Given the description of an element on the screen output the (x, y) to click on. 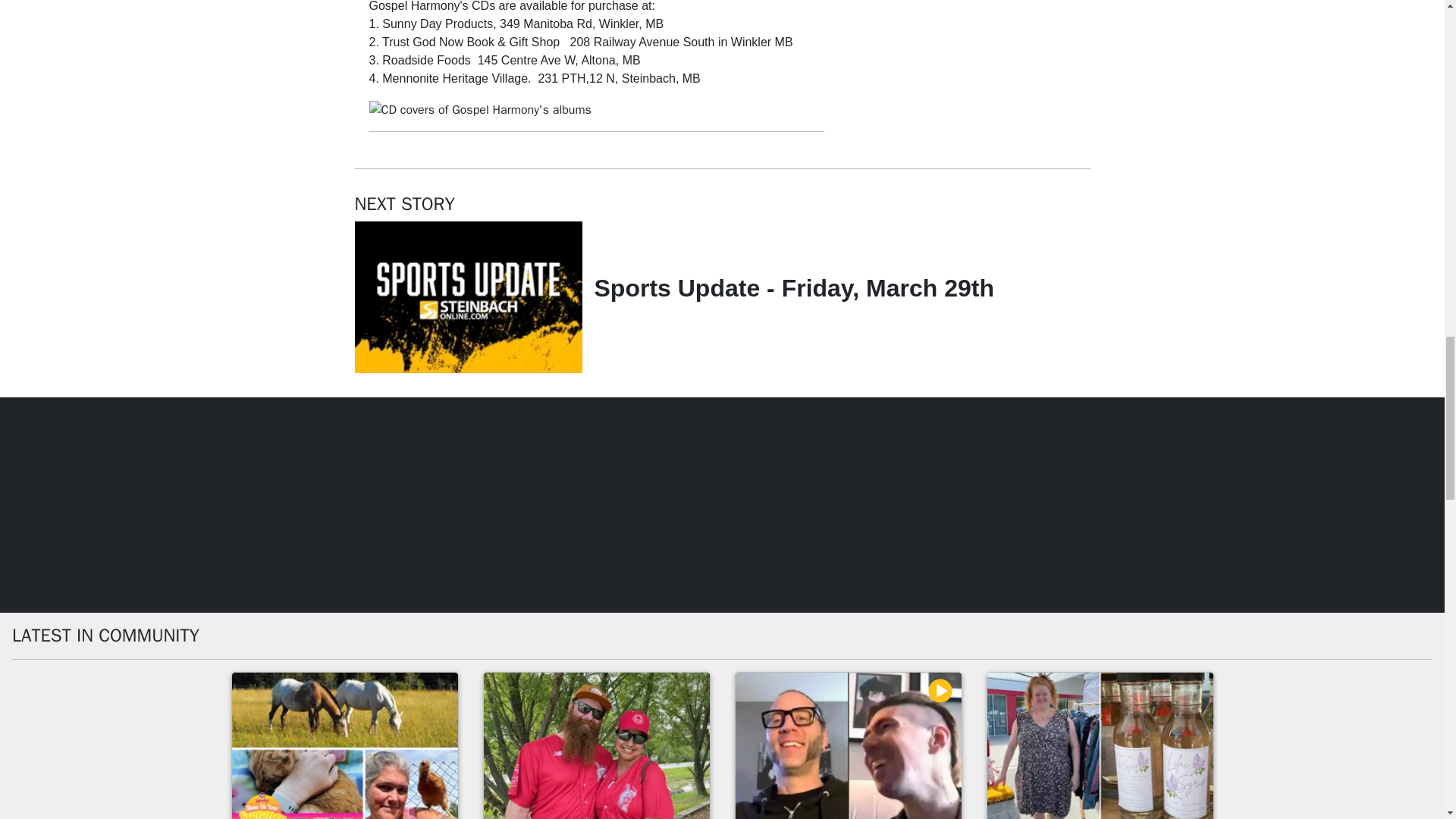
3rd party ad content (961, 72)
